Given the description of an element on the screen output the (x, y) to click on. 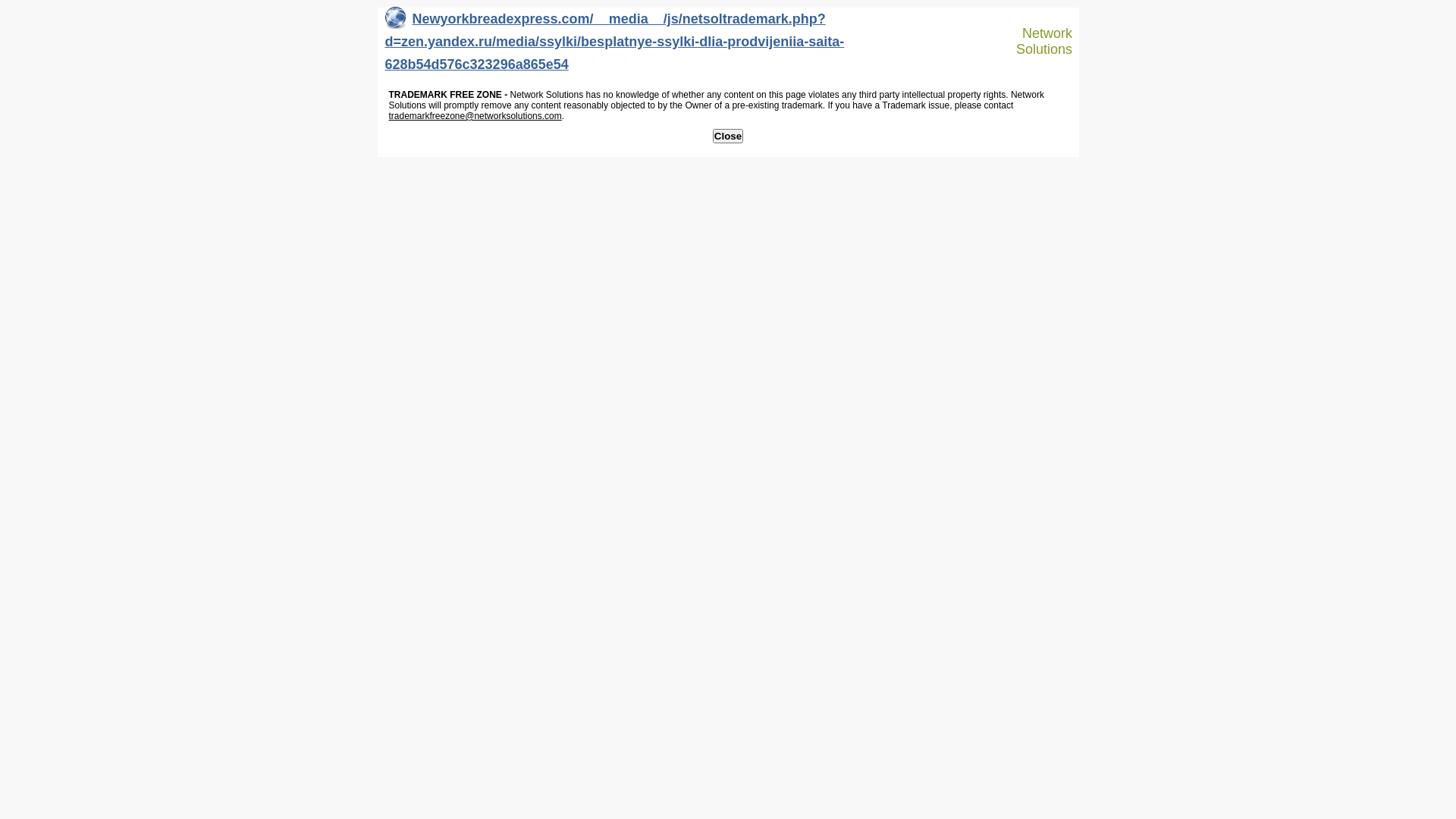
Network Solutions Element type: text (1037, 40)
trademarkfreezone@networksolutions.com Element type: text (474, 115)
Close Element type: text (727, 135)
